Given the description of an element on the screen output the (x, y) to click on. 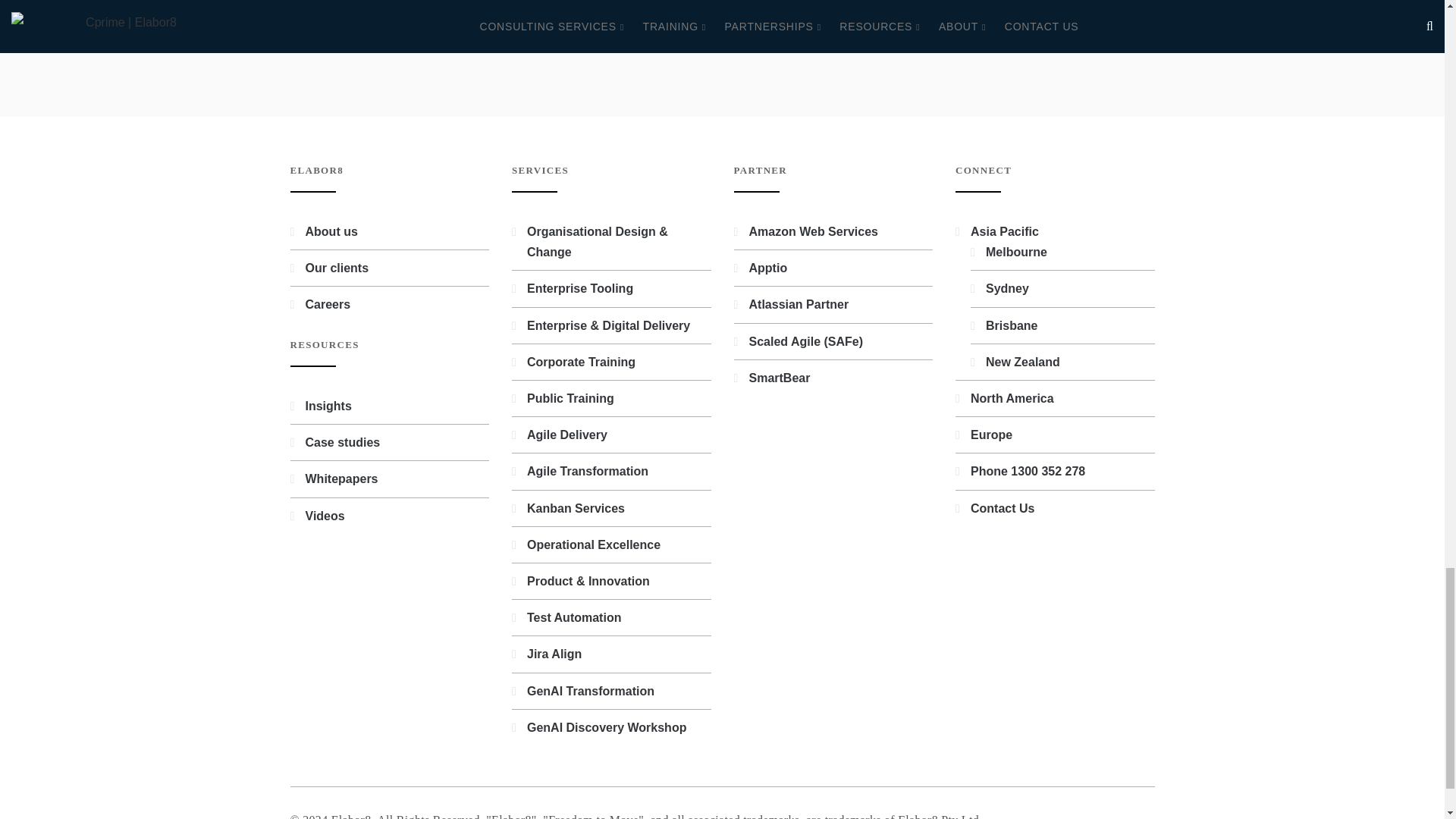
About us (330, 231)
Case studies (342, 441)
Our clients (336, 267)
Insights (327, 405)
Whitepapers (340, 478)
Careers (327, 304)
